Given the description of an element on the screen output the (x, y) to click on. 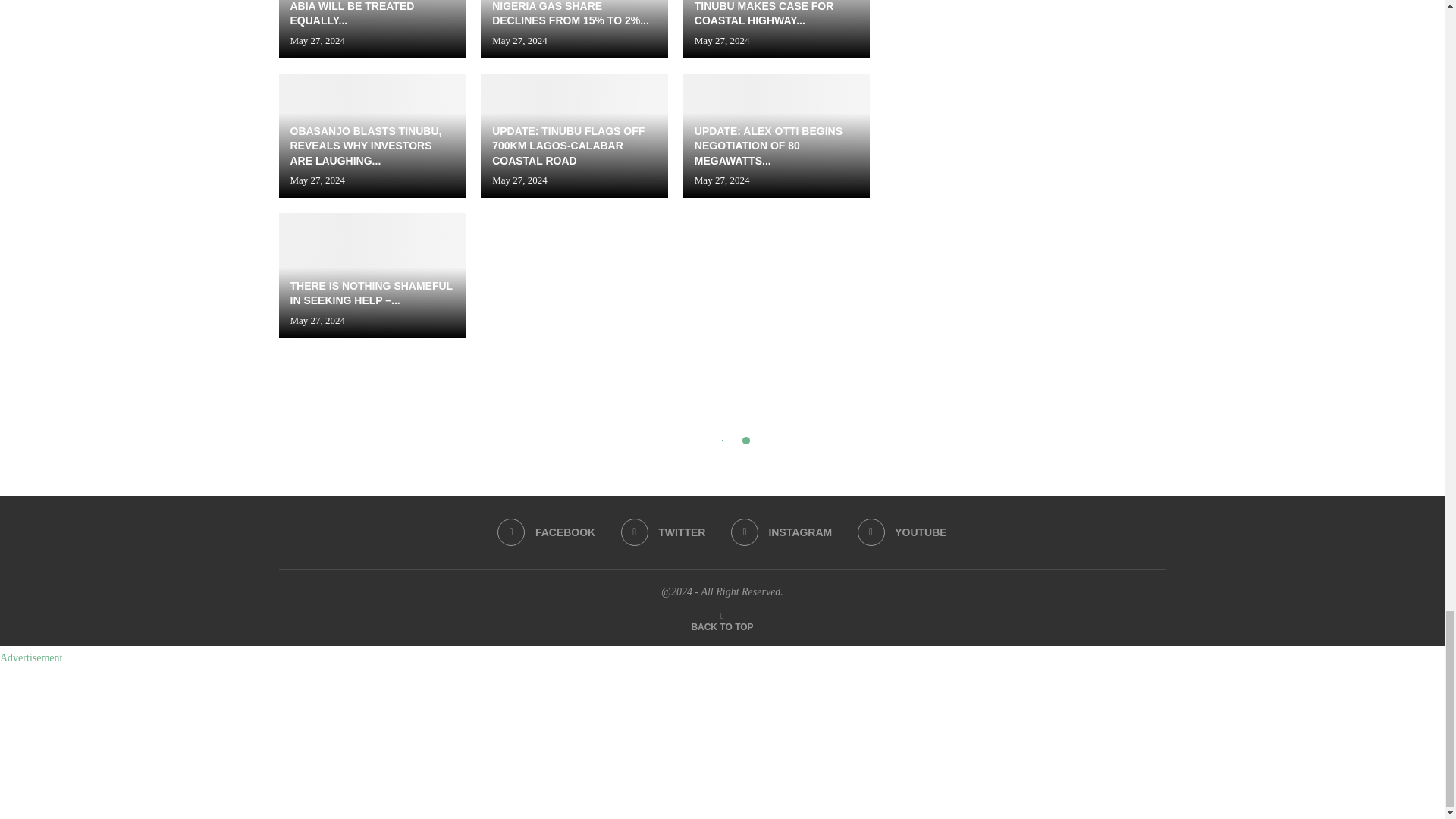
UPDATE: Tinubu Flags Off 700km Lagos-Calabar Coastal Road (574, 135)
